Given the description of an element on the screen output the (x, y) to click on. 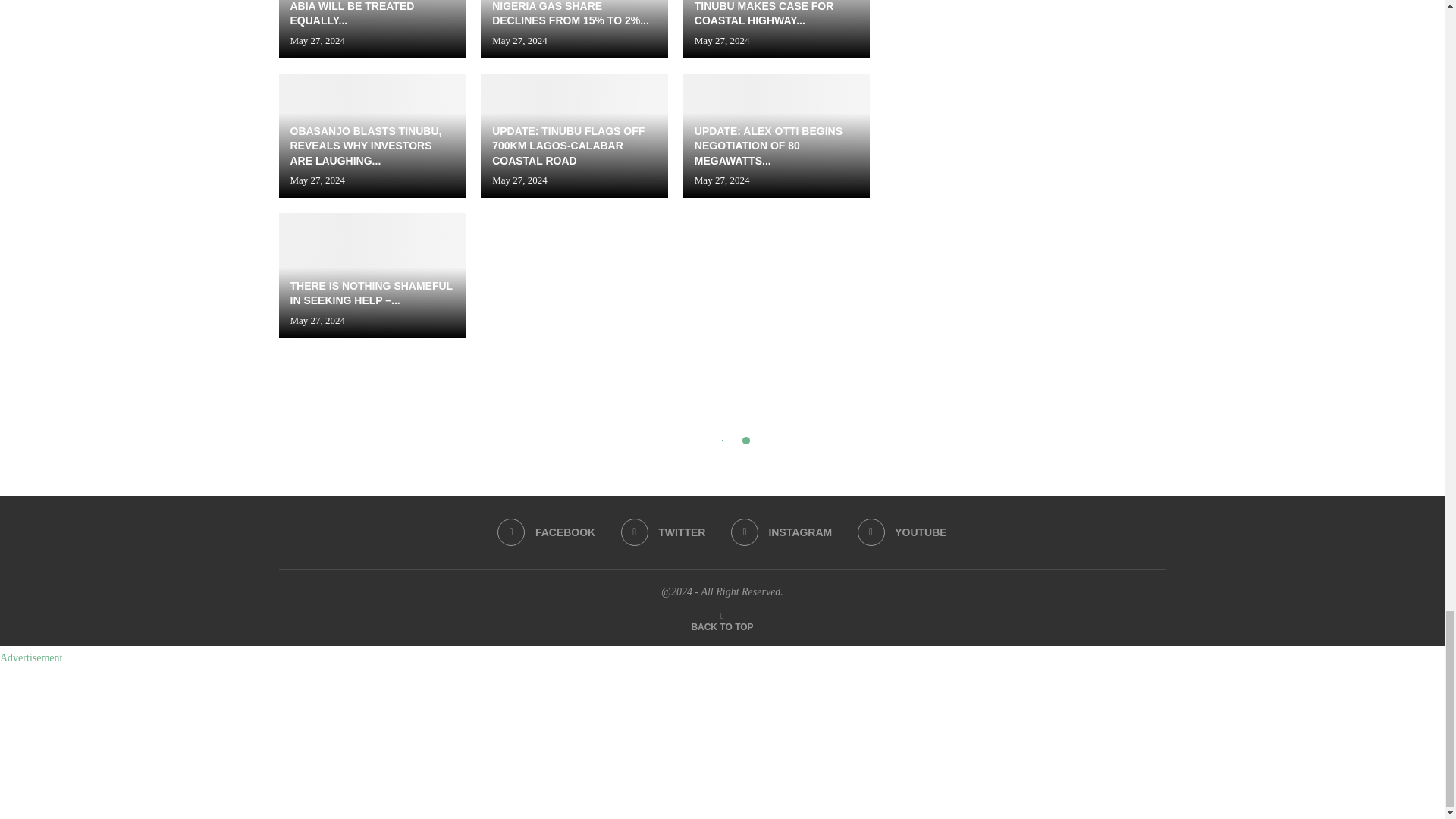
UPDATE: Tinubu Flags Off 700km Lagos-Calabar Coastal Road (574, 135)
